Given the description of an element on the screen output the (x, y) to click on. 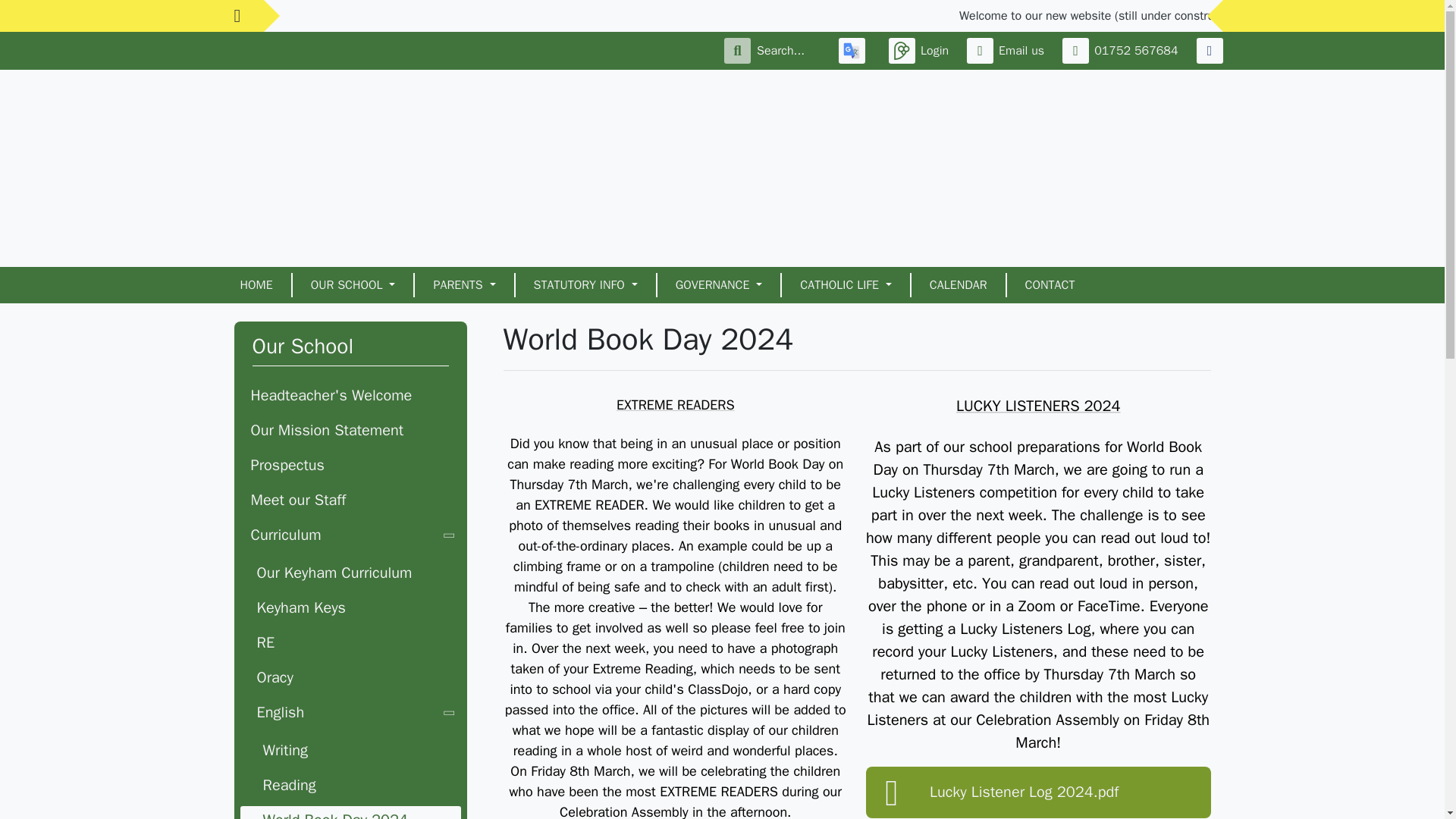
Login (921, 50)
01752 567684 (1122, 50)
Email us (1007, 50)
